Given the description of an element on the screen output the (x, y) to click on. 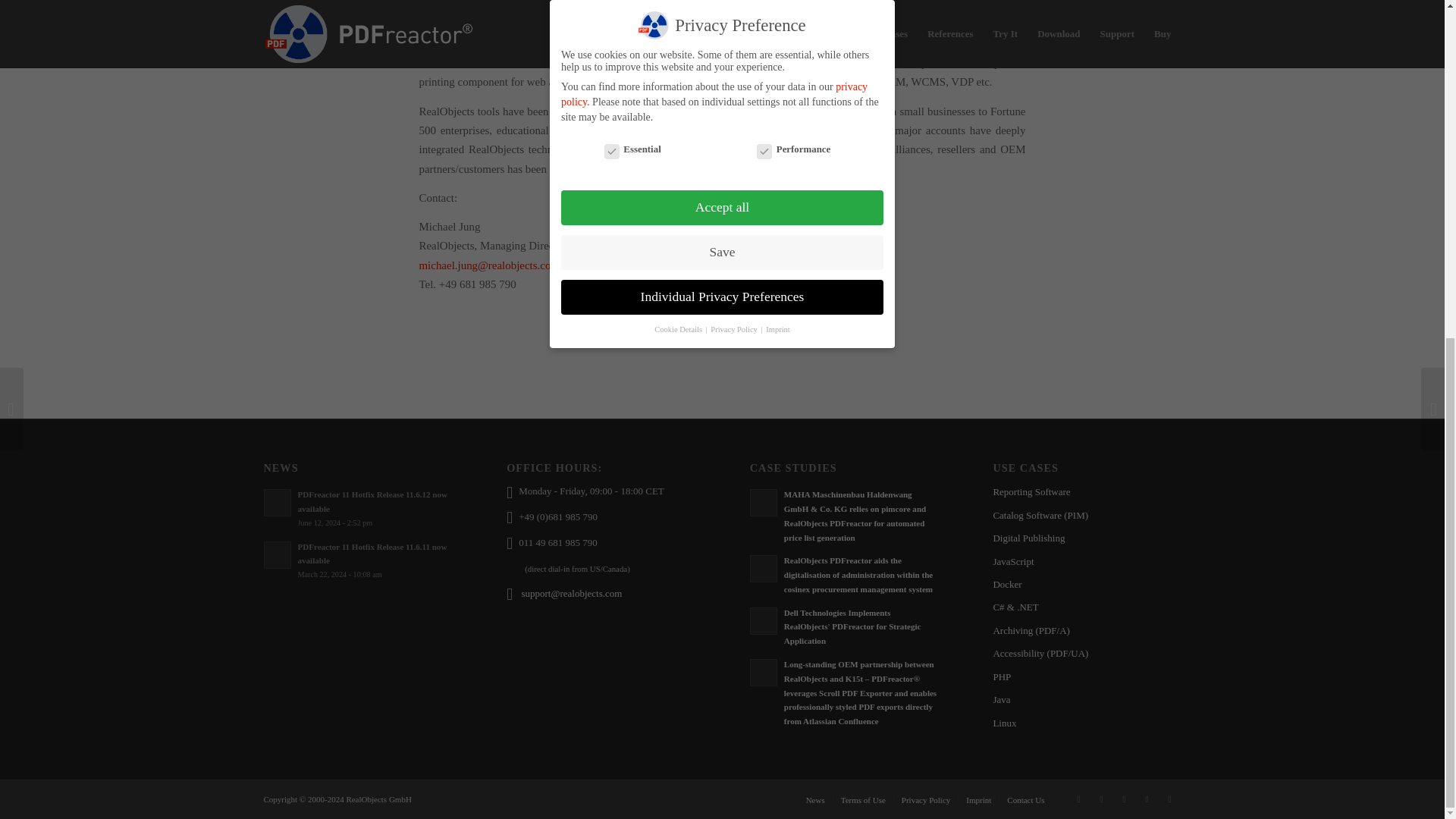
X (1101, 798)
Mail (1169, 798)
Read: PDFreactor 11 Hotfix Release 11.6.11 now available (371, 553)
PDFreactor 11 Hotfix Release 11.6.12 now available (371, 501)
LinkedIn (1124, 798)
Read: PDFreactor 11 Hotfix Release 11.6.12 now available (371, 501)
Rss (1078, 798)
Youtube (1146, 798)
Read: PDFreactor 11 Hotfix Release 11.6.11 now available (277, 554)
NEWS (280, 467)
www.realobjects.com (529, 0)
Read: PDFreactor 11 Hotfix Release 11.6.12 now available (277, 502)
